Given the description of an element on the screen output the (x, y) to click on. 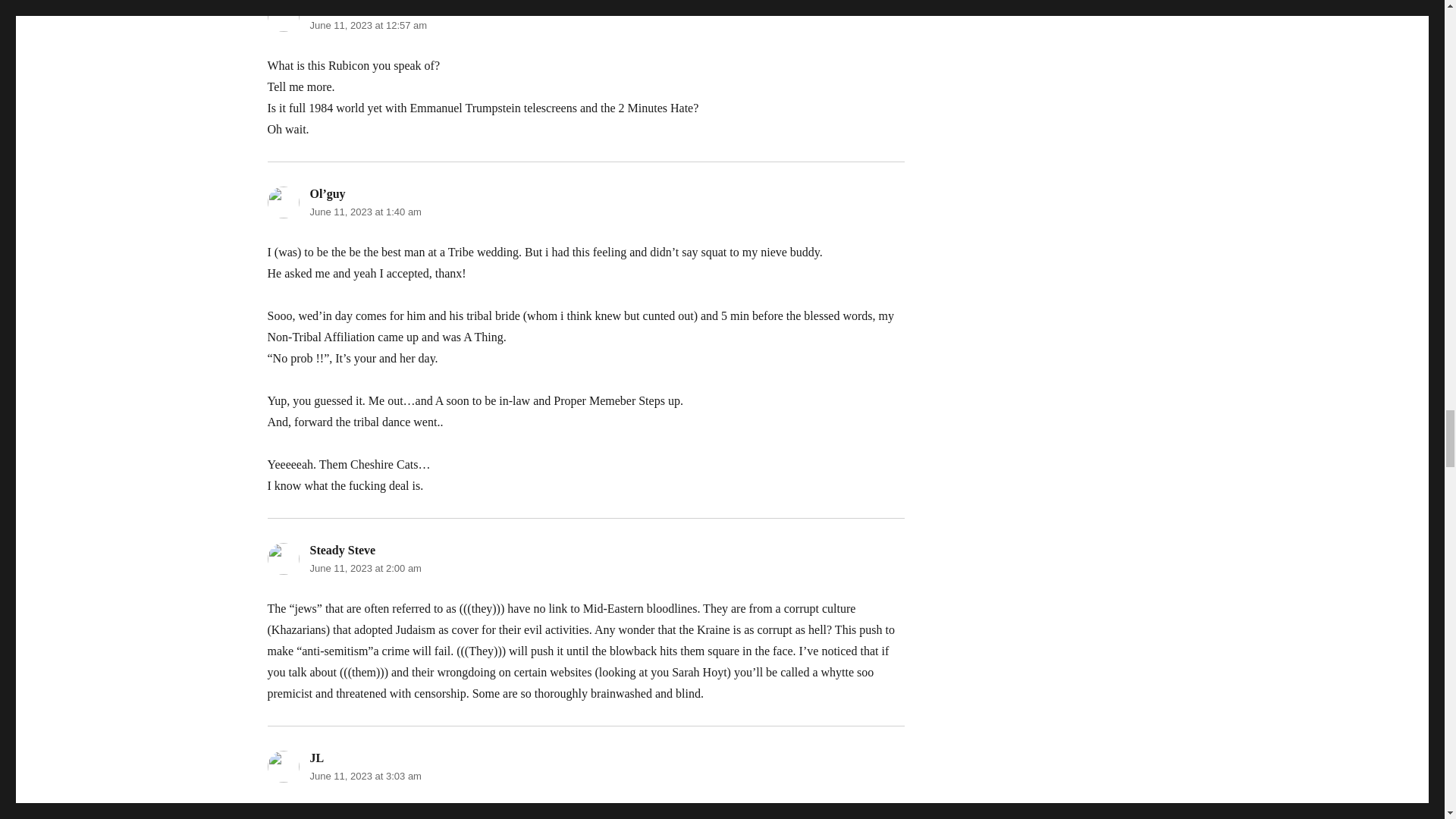
June 11, 2023 at 1:40 am (364, 211)
June 11, 2023 at 12:57 am (367, 25)
June 11, 2023 at 2:00 am (364, 568)
June 11, 2023 at 3:03 am (364, 776)
